Given the description of an element on the screen output the (x, y) to click on. 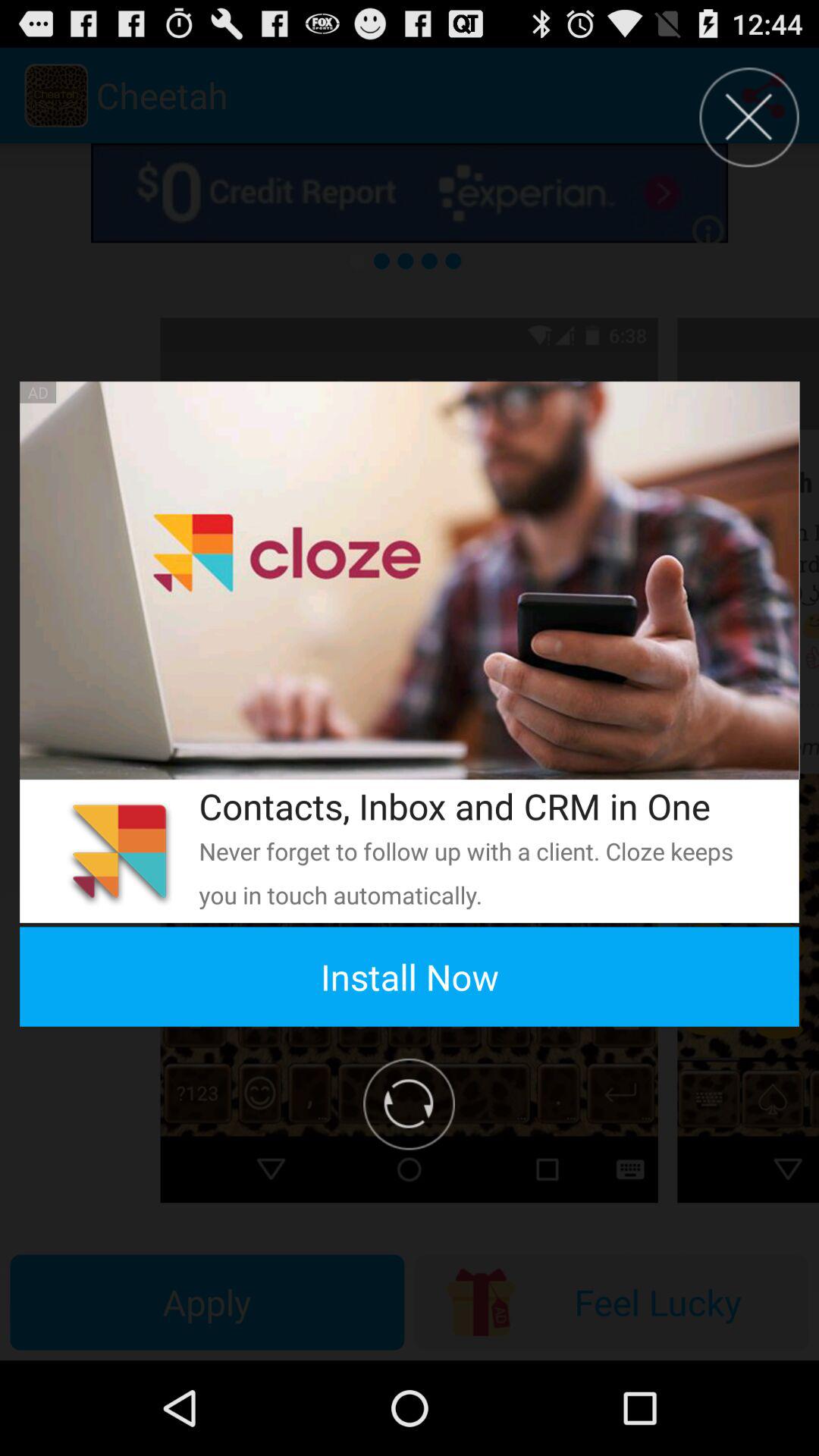
swipe to the install now app (409, 976)
